Given the description of an element on the screen output the (x, y) to click on. 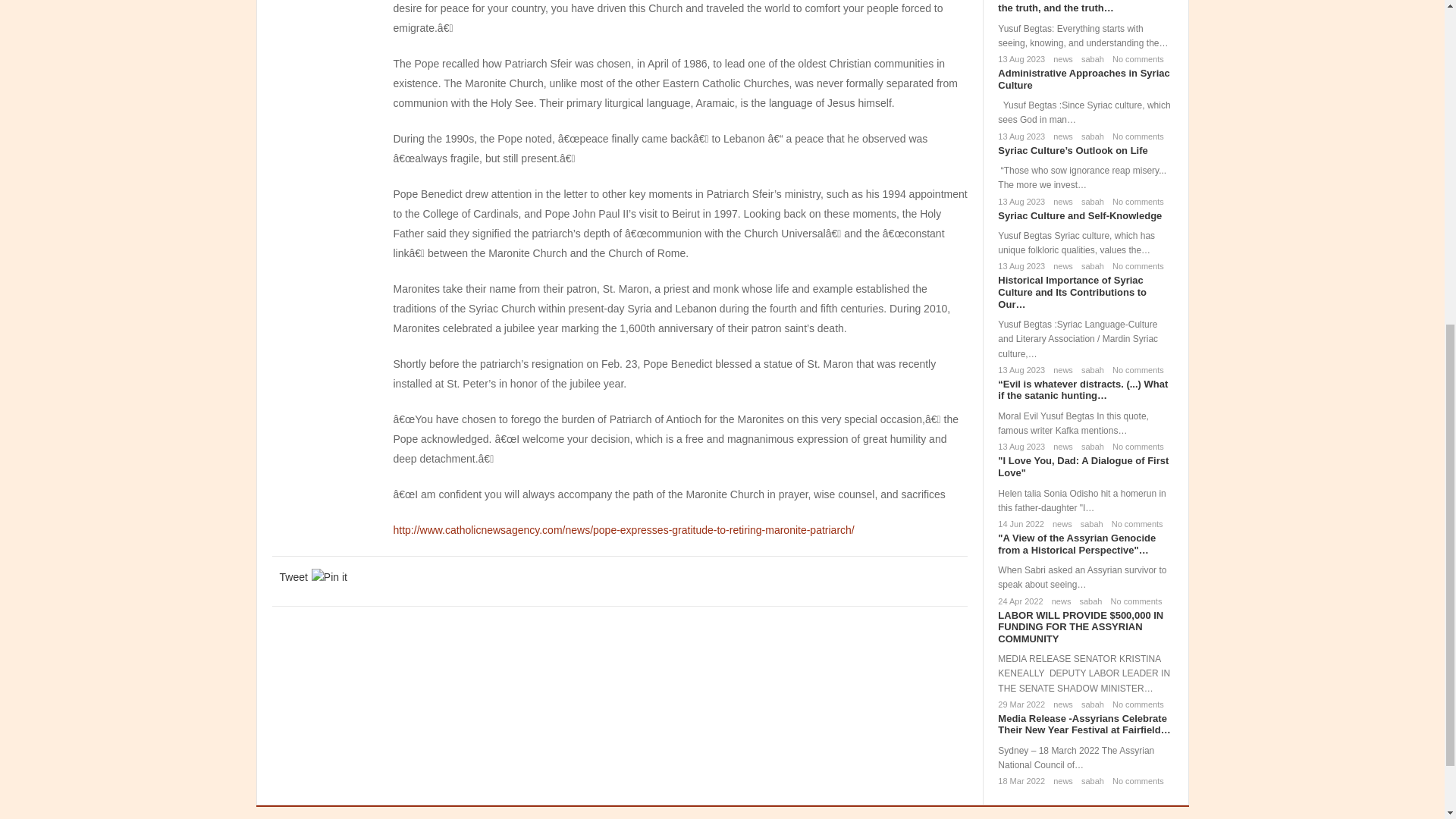
Pin it (329, 576)
Administrative Approaches in Syriac Culture (1083, 78)
Tweet (293, 576)
